Given the description of an element on the screen output the (x, y) to click on. 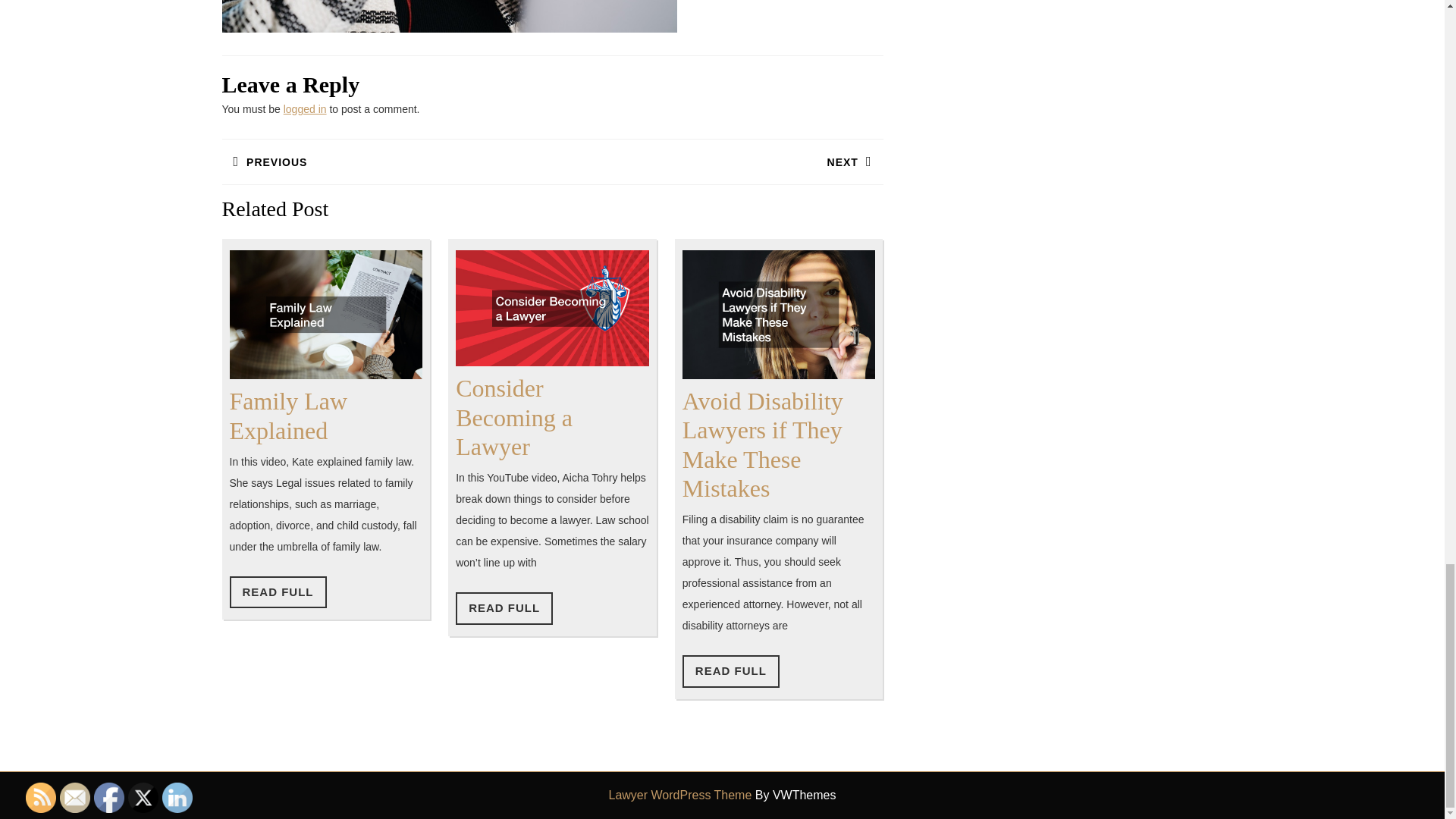
Follow by Email (716, 161)
Twitter (74, 797)
RSS (504, 608)
Facebook (277, 592)
